Given the description of an element on the screen output the (x, y) to click on. 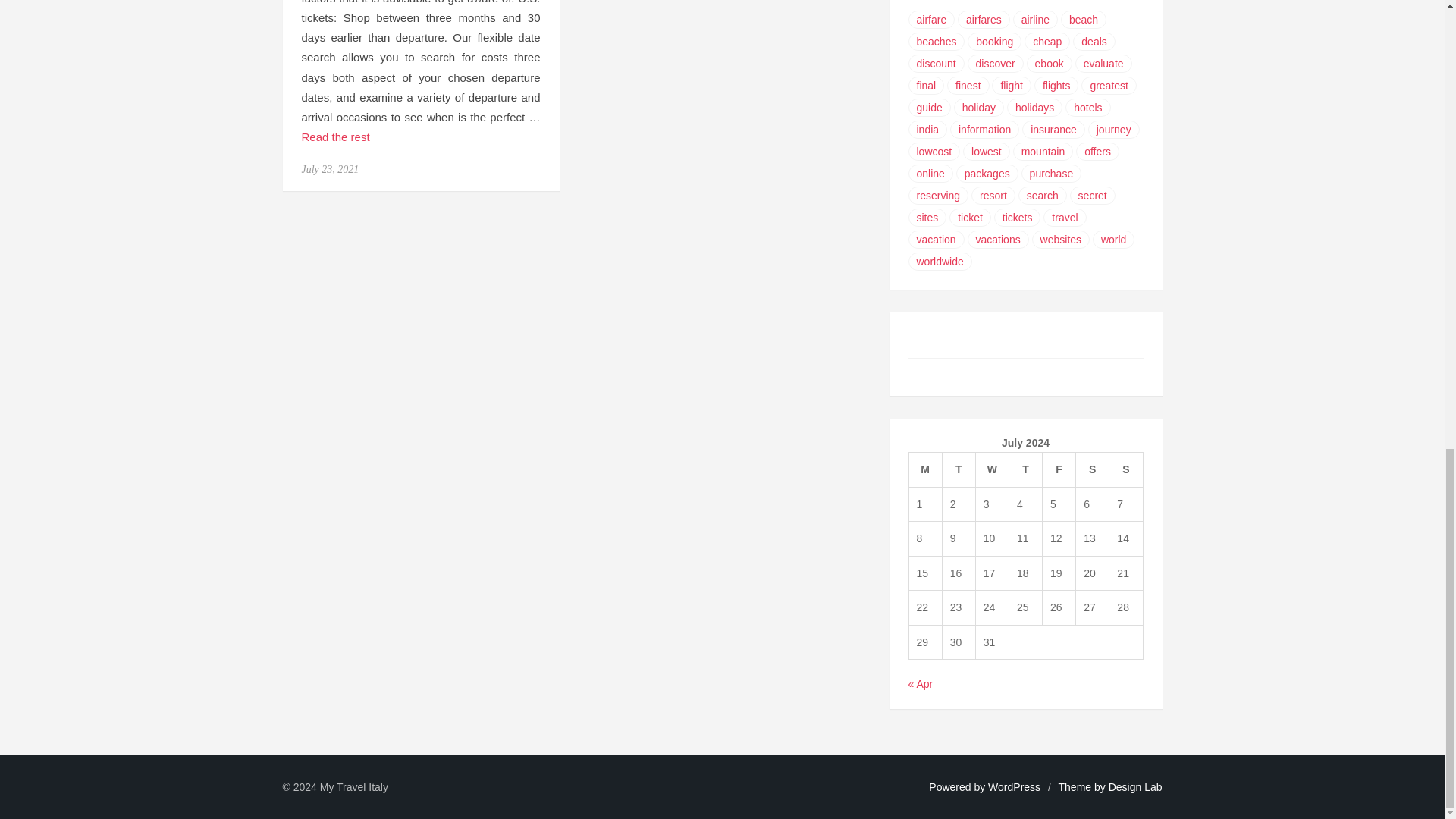
Wednesday (992, 469)
Thursday (1025, 469)
Tuesday (958, 469)
Saturday (1092, 469)
Read the rest (335, 137)
July 23, 2021 (330, 169)
Friday (1058, 469)
Sunday (1125, 469)
Monday (925, 469)
